Given the description of an element on the screen output the (x, y) to click on. 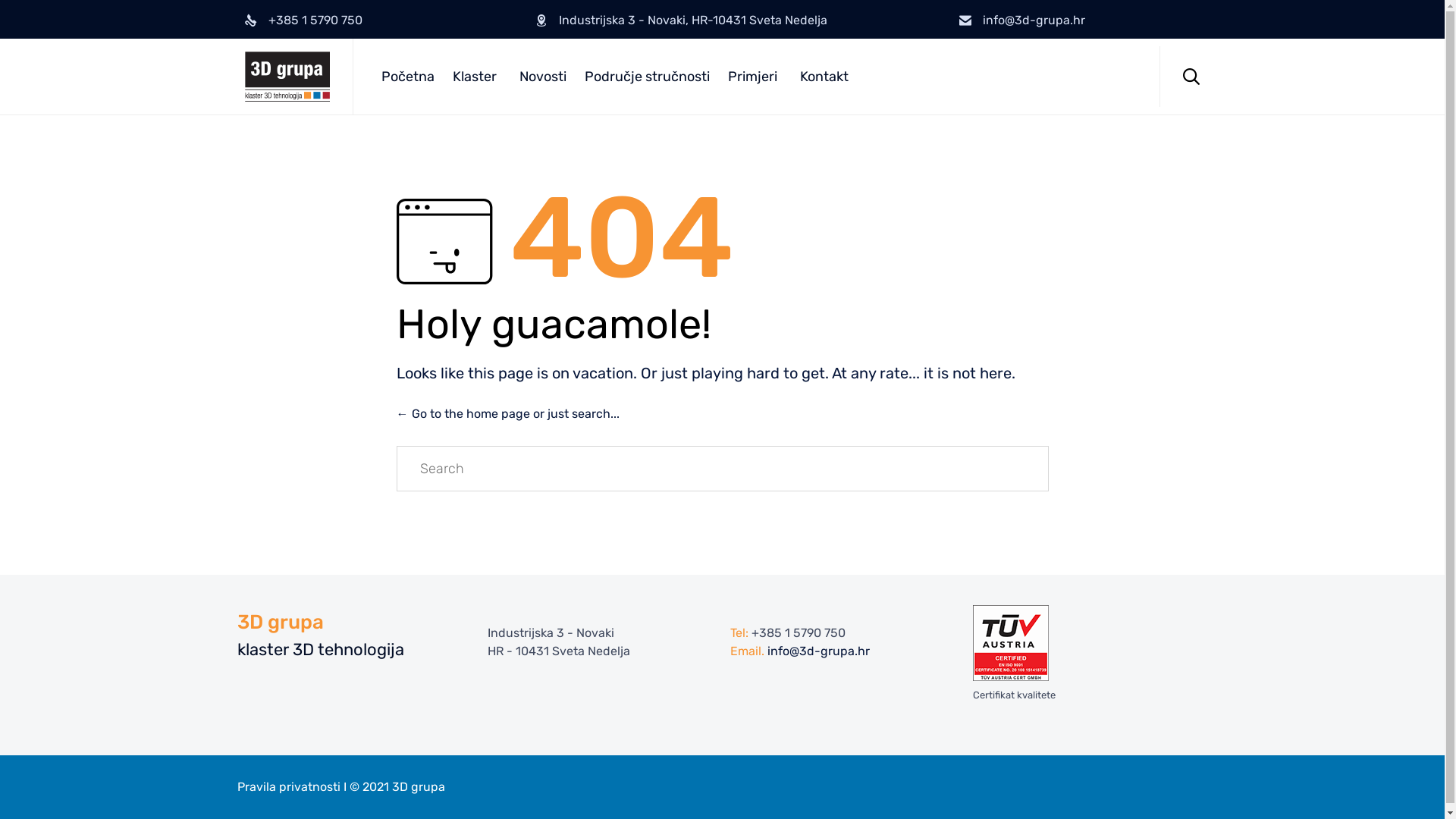
Pravila privatnosti Element type: text (287, 786)
Novosti Element type: text (541, 76)
3D Grupa Element type: hover (286, 76)
2015-TUV-certifikacijska-markica_100x100 Element type: hover (1010, 642)
Klaster Element type: text (475, 76)
Kontakt Element type: text (823, 76)
info@3d-grupa.hr Element type: text (818, 650)
Primjeri Element type: text (754, 76)
Skip to content Element type: text (1158, 45)
+385 1 5790 750 Element type: text (797, 632)
Search Element type: text (997, 468)
info@3d-grupa.hr Element type: text (1033, 20)
